Given the description of an element on the screen output the (x, y) to click on. 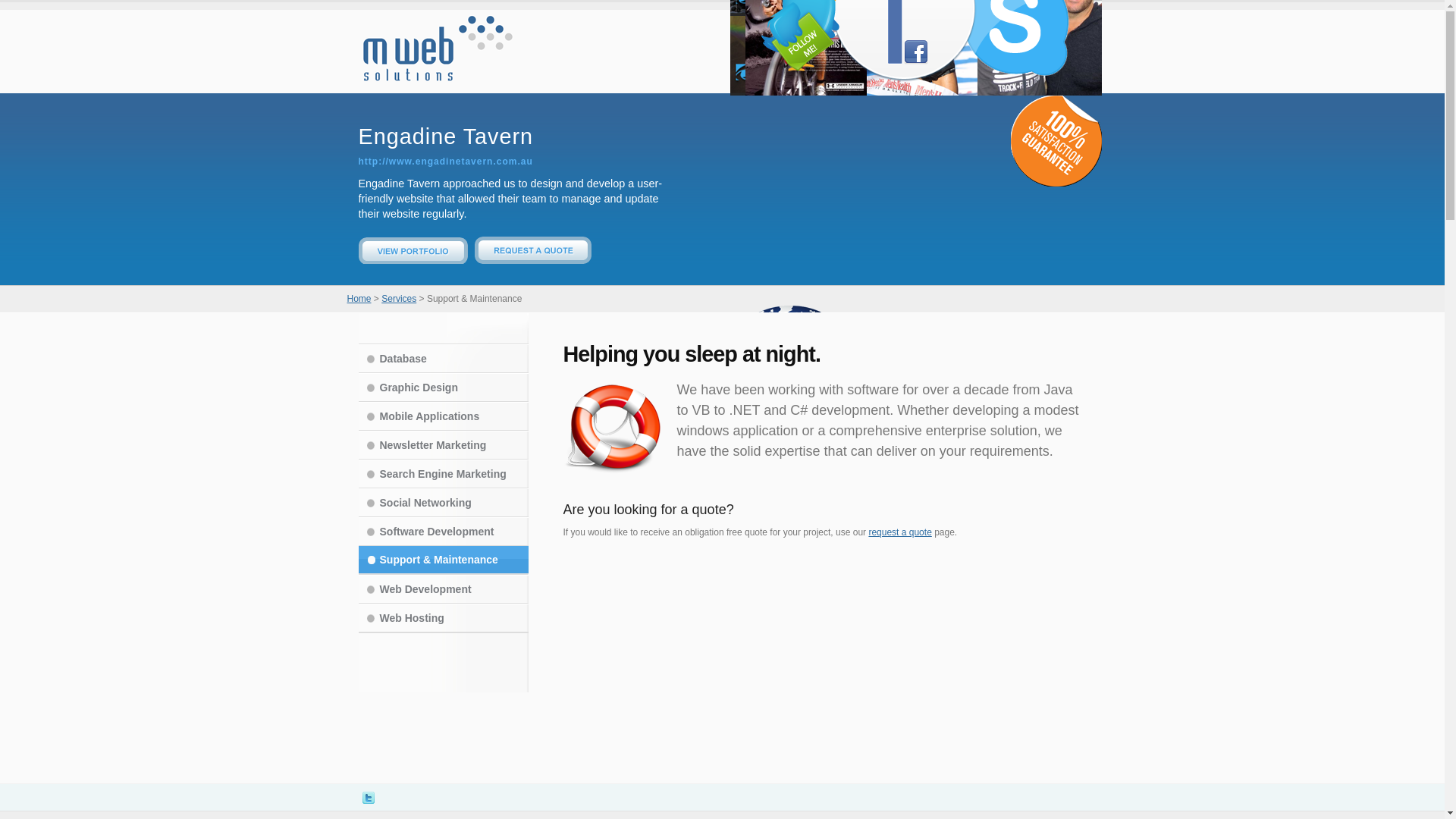
Web Development Element type: text (442, 588)
http://www.engadinetavern.com.au Element type: text (444, 161)
Mobile Applications Element type: text (442, 415)
Database Element type: text (442, 358)
Portfolio Element type: text (837, 77)
Contact Us Element type: text (1058, 28)
Social Networking Element type: text (442, 502)
Request a Quote Element type: hover (532, 260)
Services Element type: text (894, 78)
Price info Element type: text (1004, 452)
MWeb Solutions - 'Making the web easy.' Element type: hover (438, 47)
Our Customers Element type: text (966, 77)
Search Engine Marketing Element type: text (442, 473)
Home Element type: text (359, 298)
http://www.bestof.com.au Element type: text (421, 540)
Live Chat Element type: hover (1060, 452)
View Portfolio Element type: hover (412, 260)
Software Development Element type: text (442, 531)
request a quote Element type: text (899, 532)
more Element type: text (451, 420)
Web Hosting Element type: text (442, 617)
About Us Element type: text (1004, 28)
Services Element type: text (398, 298)
Home Element type: text (959, 28)
Newsletter Marketing Element type: text (442, 444)
Support & Maintenance Element type: text (442, 559)
News & Articles Element type: text (1053, 77)
Graphic Design Element type: text (442, 387)
